Given the description of an element on the screen output the (x, y) to click on. 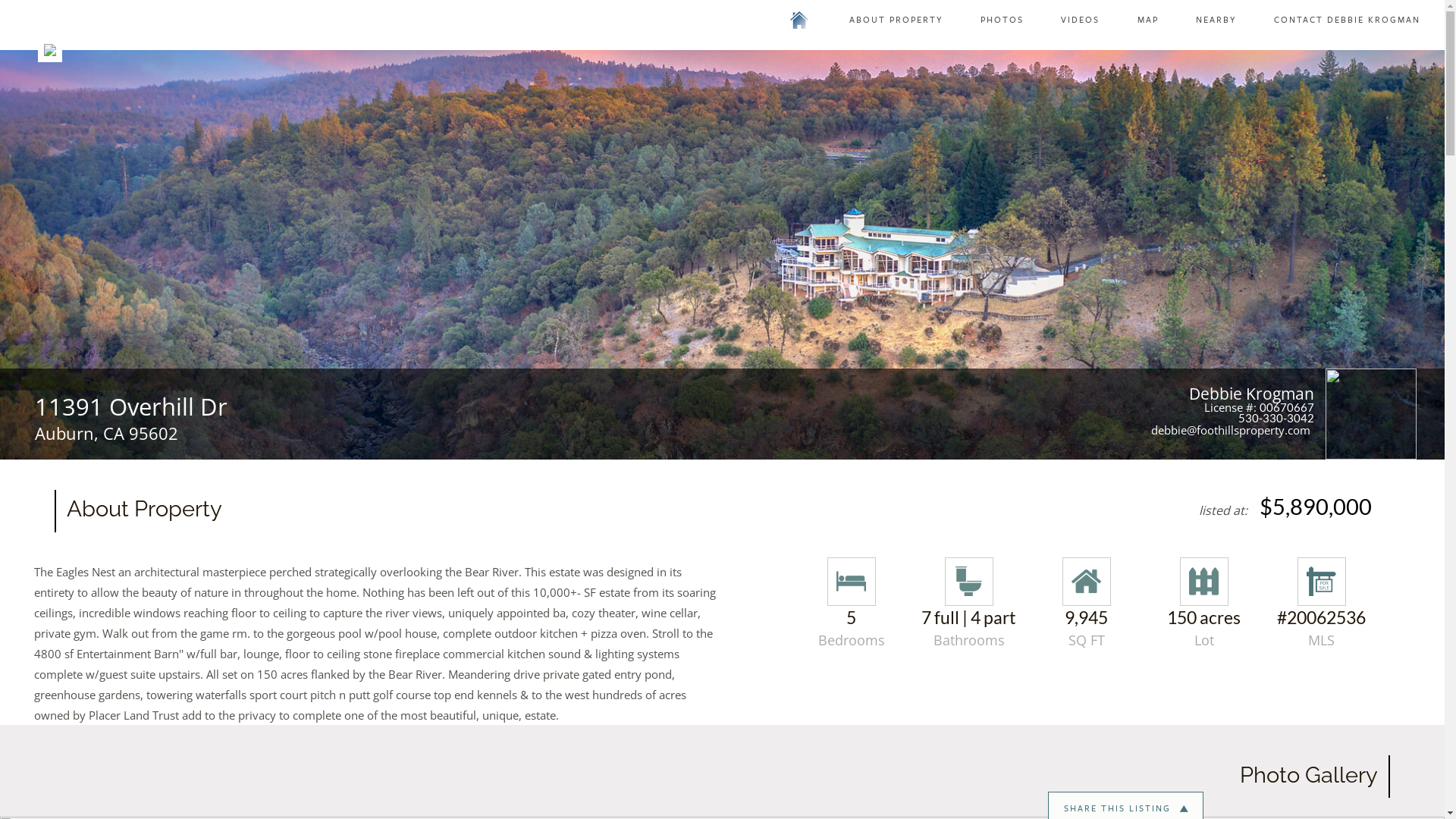
VIDEOS Element type: text (1079, 19)
NEARBY Element type: text (1215, 19)
ABOUT PROPERTY Element type: text (895, 19)
debbie@foothillsproperty.com Element type: text (1232, 429)
CONTACT DEBBIE KROGMAN Element type: text (1347, 19)
MAP Element type: text (1147, 19)
PHOTOS Element type: text (1001, 19)
